Given the description of an element on the screen output the (x, y) to click on. 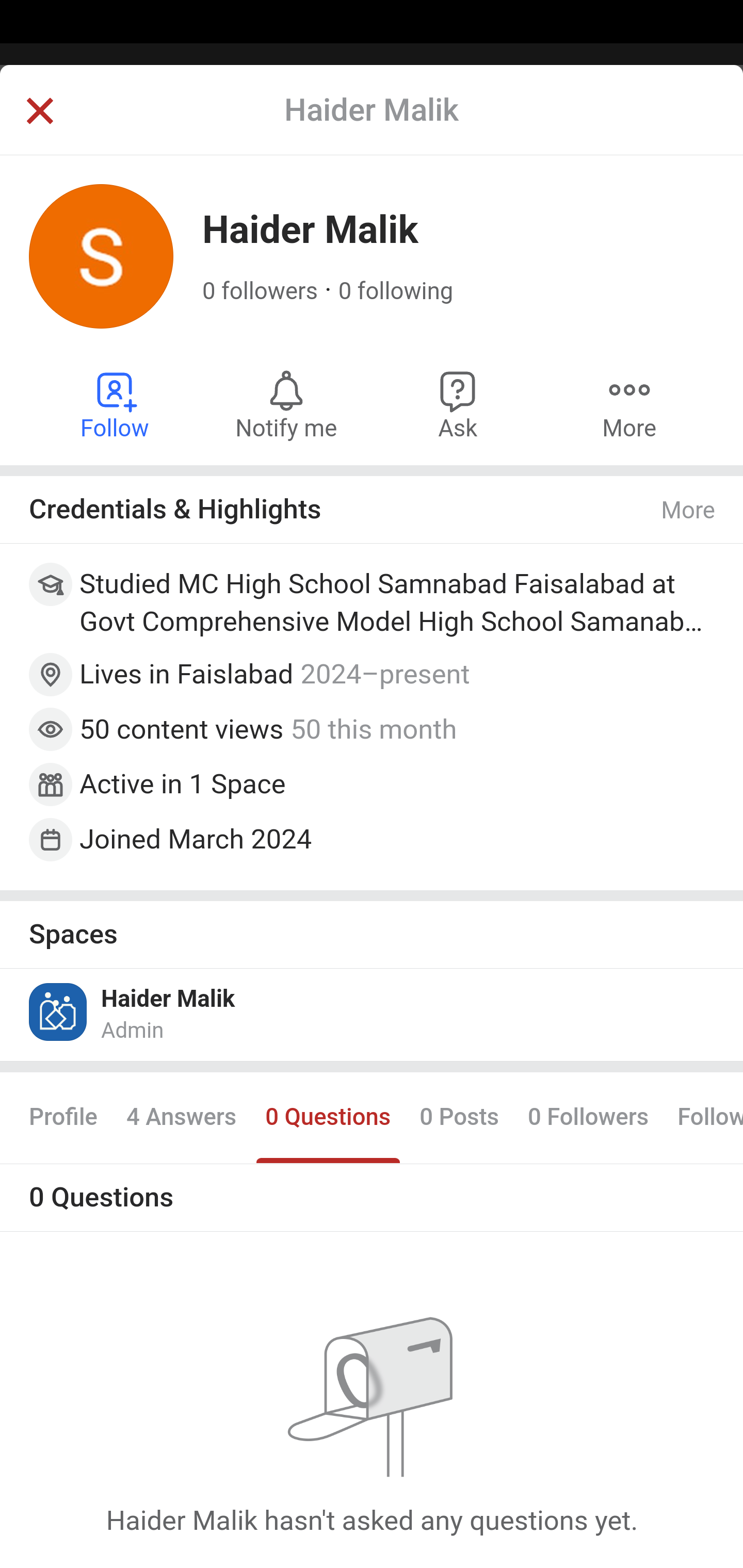
Back Answer (371, 125)
 (39, 112)
Follow Haider Malik Follow (115, 404)
Notify me (285, 404)
Ask (458, 404)
More (628, 404)
More (688, 510)
Icon for Haider Malik (58, 1011)
Haider Malik (168, 998)
Profile (63, 1117)
4 Answers (180, 1117)
0 Questions (327, 1117)
0 Posts (459, 1117)
0 Followers (588, 1117)
Following (702, 1117)
